Given the description of an element on the screen output the (x, y) to click on. 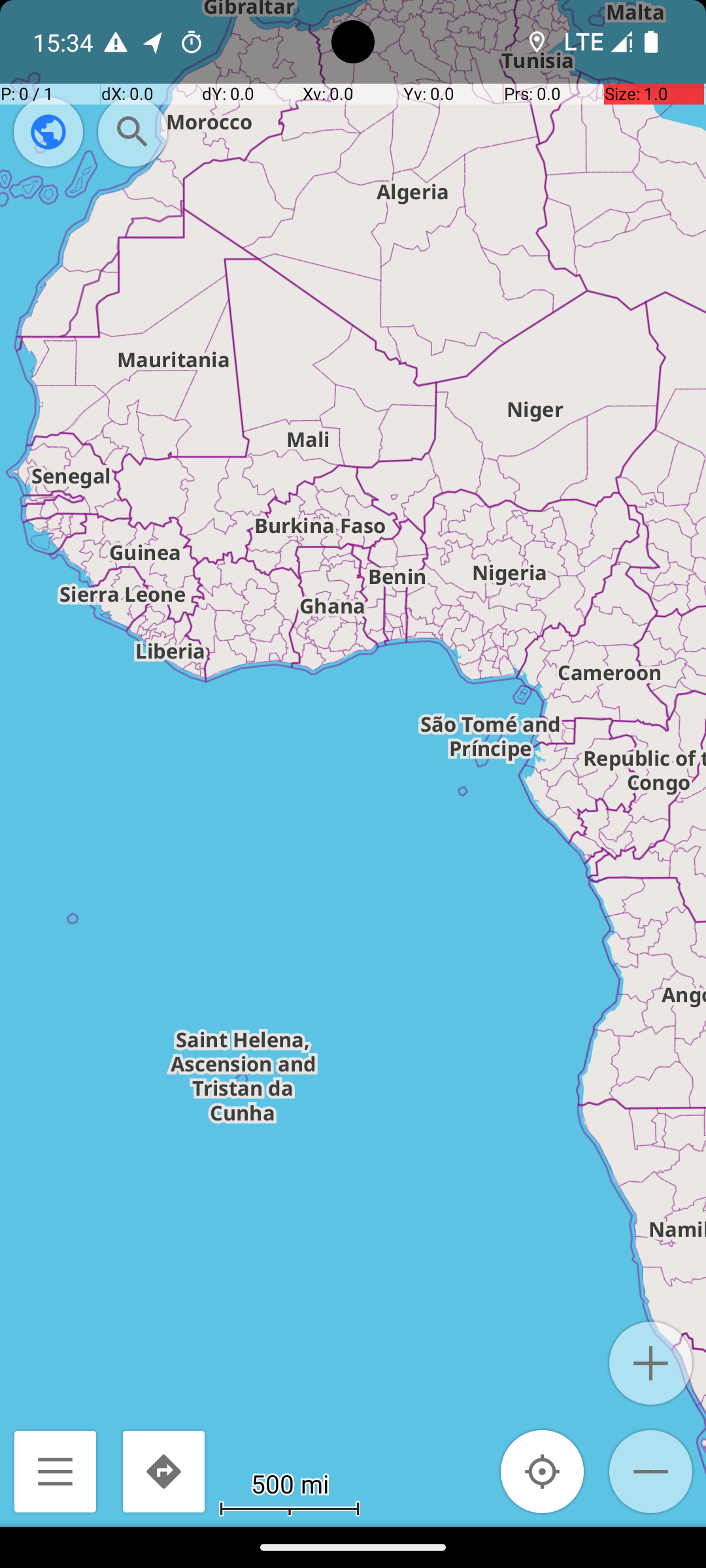
500 mi Element type: android.widget.TextView (289, 1483)
Position not yet known. Element type: android.widget.ImageButton (542, 1471)
OpenTracks notification: Distance: 8.20 mi Element type: android.widget.ImageView (153, 41)
